Given the description of an element on the screen output the (x, y) to click on. 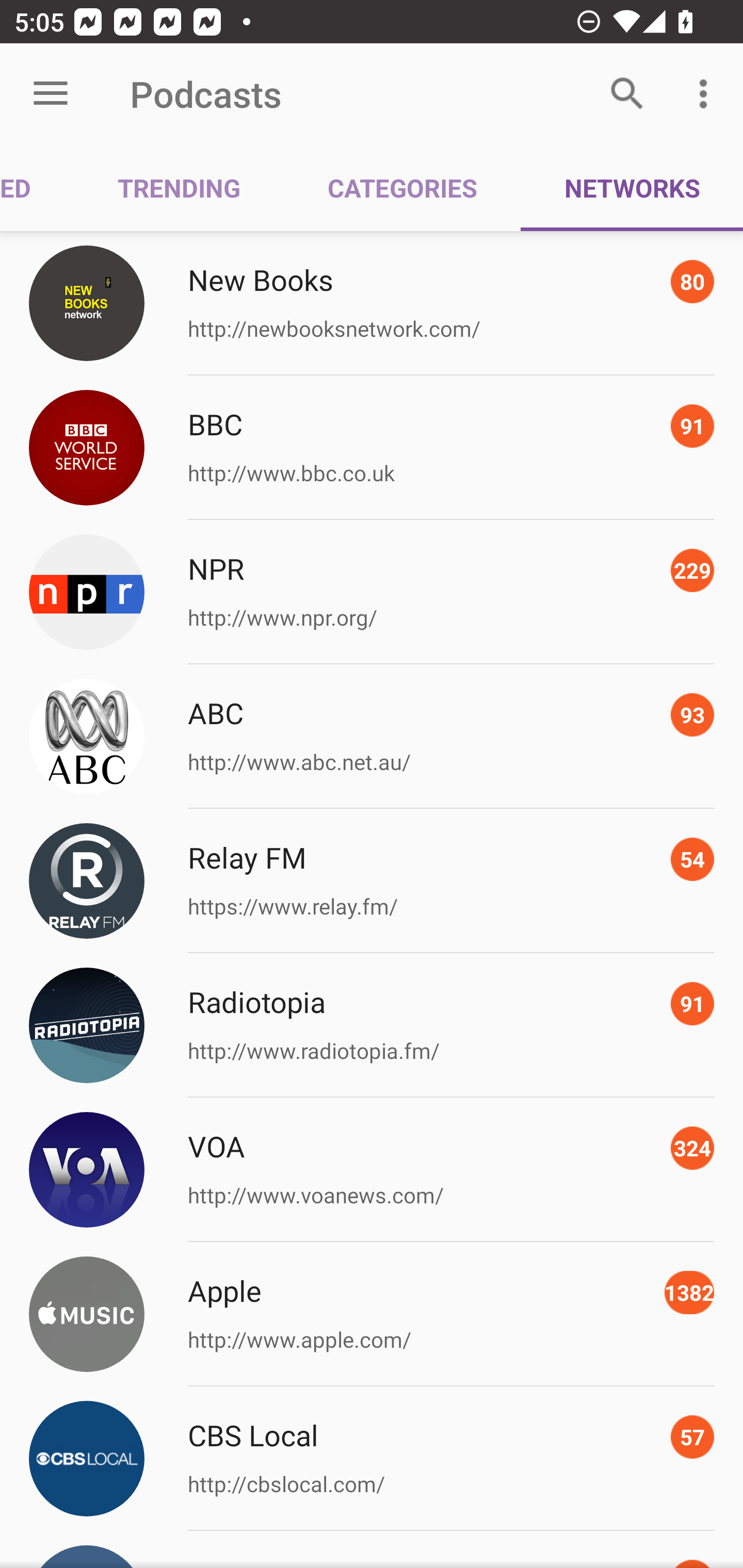
Open menu (50, 93)
Search (626, 93)
More options (706, 93)
TRENDING (178, 187)
CATEGORIES (401, 187)
NETWORKS (631, 187)
Picture New Books 80 http://newbooksnetwork.com/ (371, 302)
Picture BBC 91 http://www.bbc.co.uk (371, 447)
Picture NPR 229 http://www.npr.org/ (371, 592)
Picture ABC 93 http://www.abc.net.au/ (371, 736)
Picture Relay FM 54 https://www.relay.fm/ (371, 881)
Picture Radiotopia 91 http://www.radiotopia.fm/ (371, 1025)
Picture VOA 324 http://www.voanews.com/ (371, 1169)
Picture Apple 1382 http://www.apple.com/ (371, 1313)
Picture CBS Local 57 http://cbslocal.com/ (371, 1458)
